Given the description of an element on the screen output the (x, y) to click on. 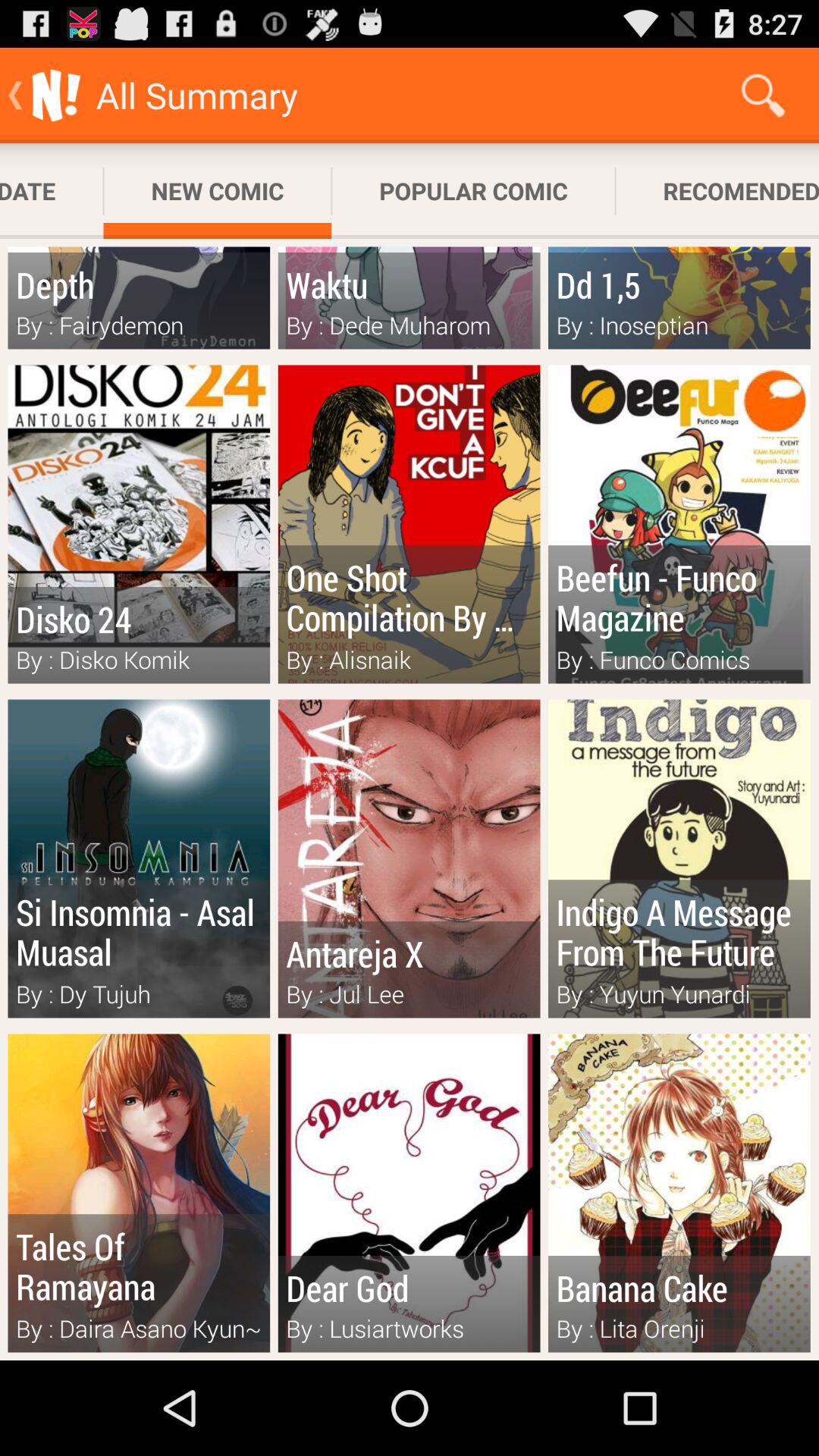
select the app next to the popular comic app (217, 190)
